Given the description of an element on the screen output the (x, y) to click on. 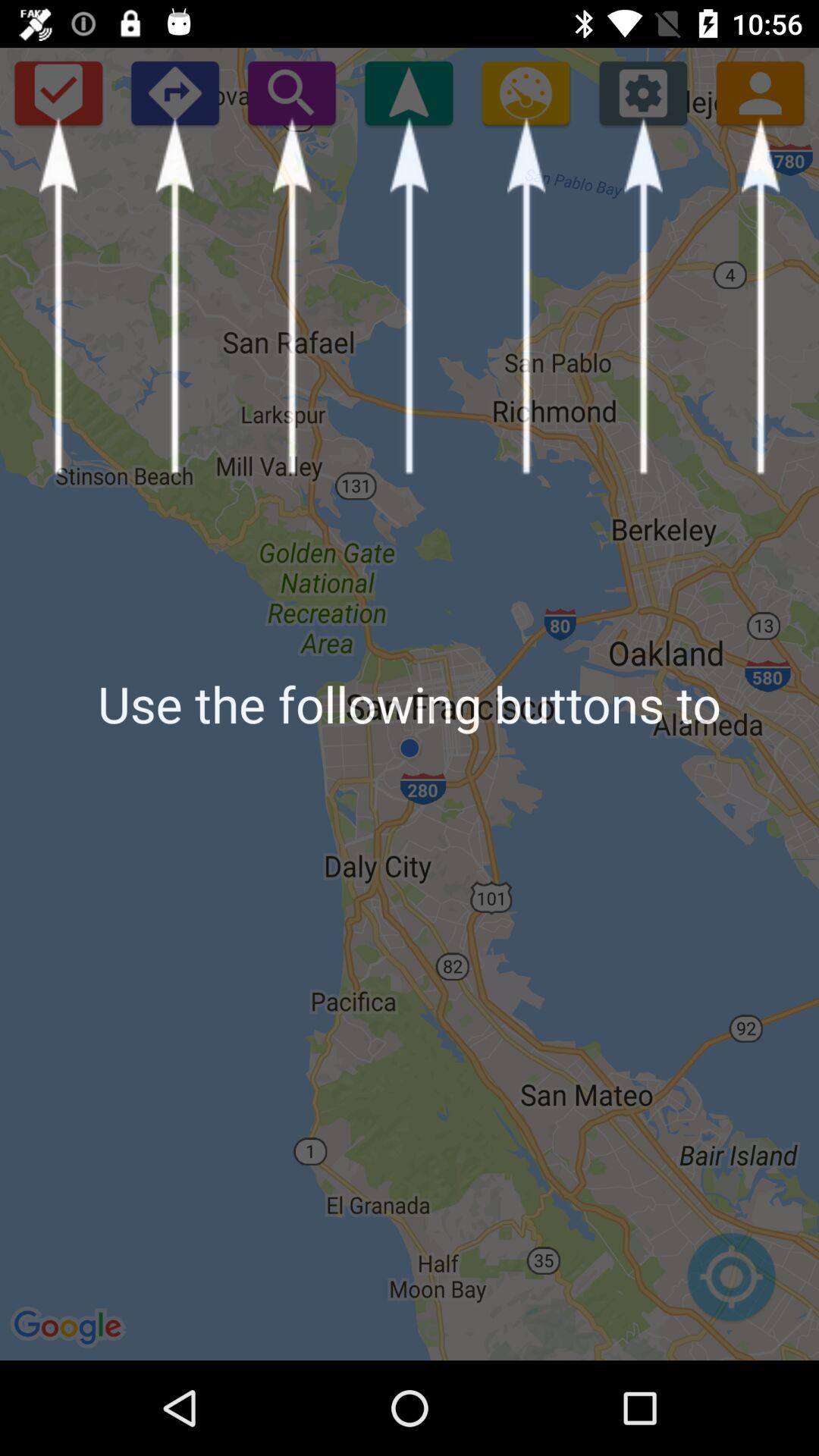
press item above use the following icon (174, 92)
